Given the description of an element on the screen output the (x, y) to click on. 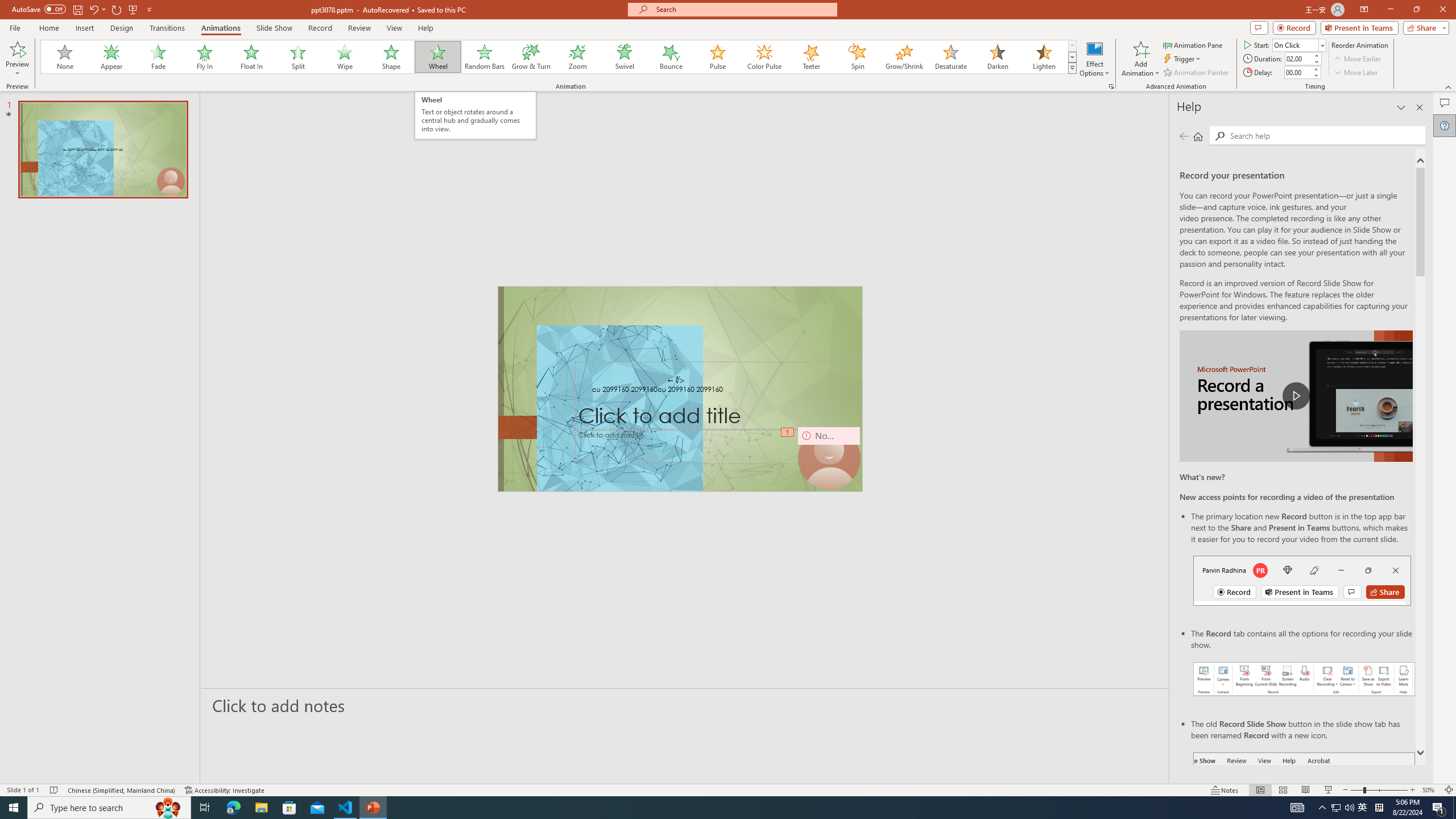
Grow/Shrink (903, 56)
Teeter (810, 56)
Animation, sequence 1, on Camera 9 (787, 432)
Appear (111, 56)
Zoom 50% (1430, 790)
